Given the description of an element on the screen output the (x, y) to click on. 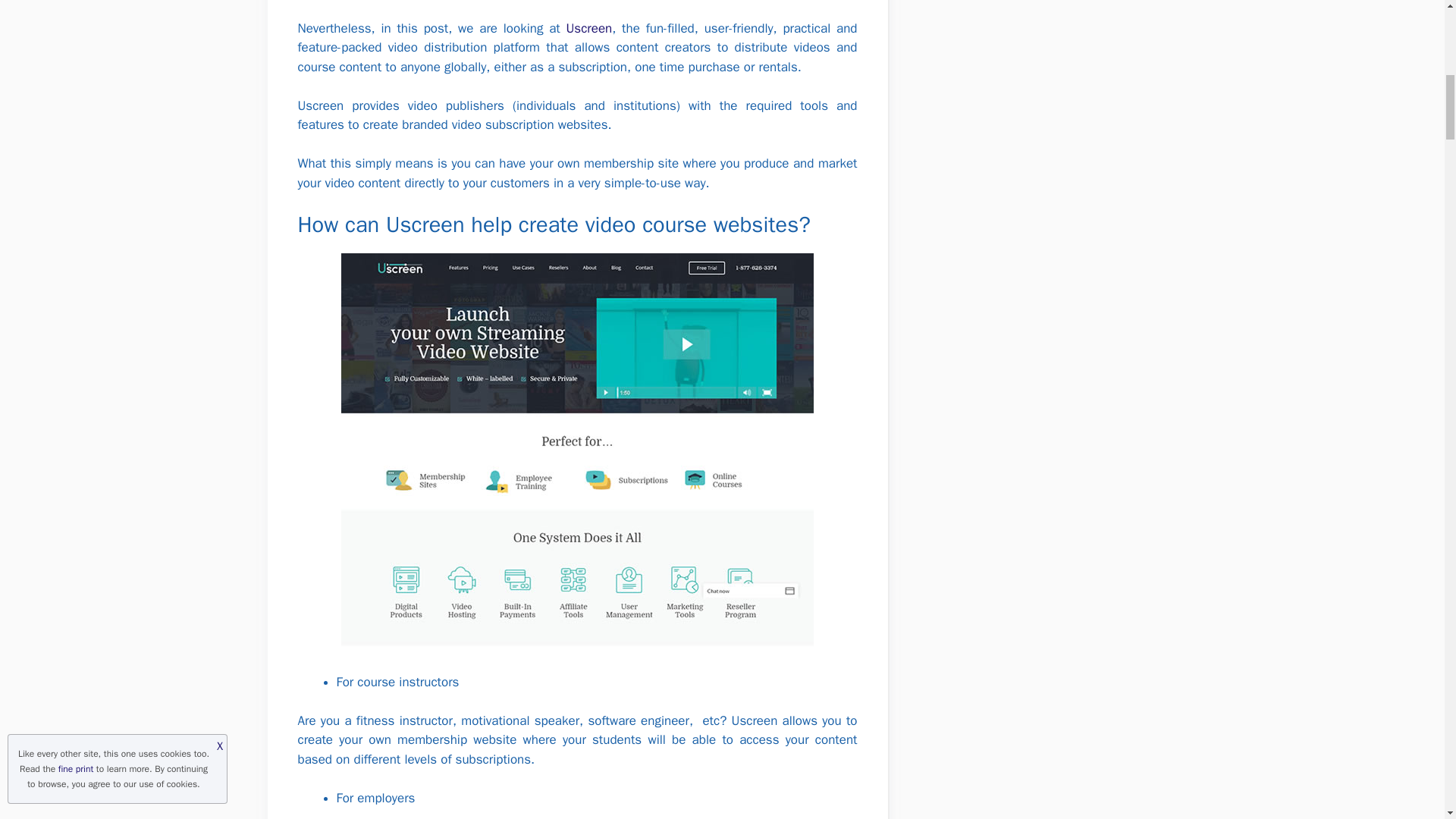
Uscreen (588, 28)
